Given the description of an element on the screen output the (x, y) to click on. 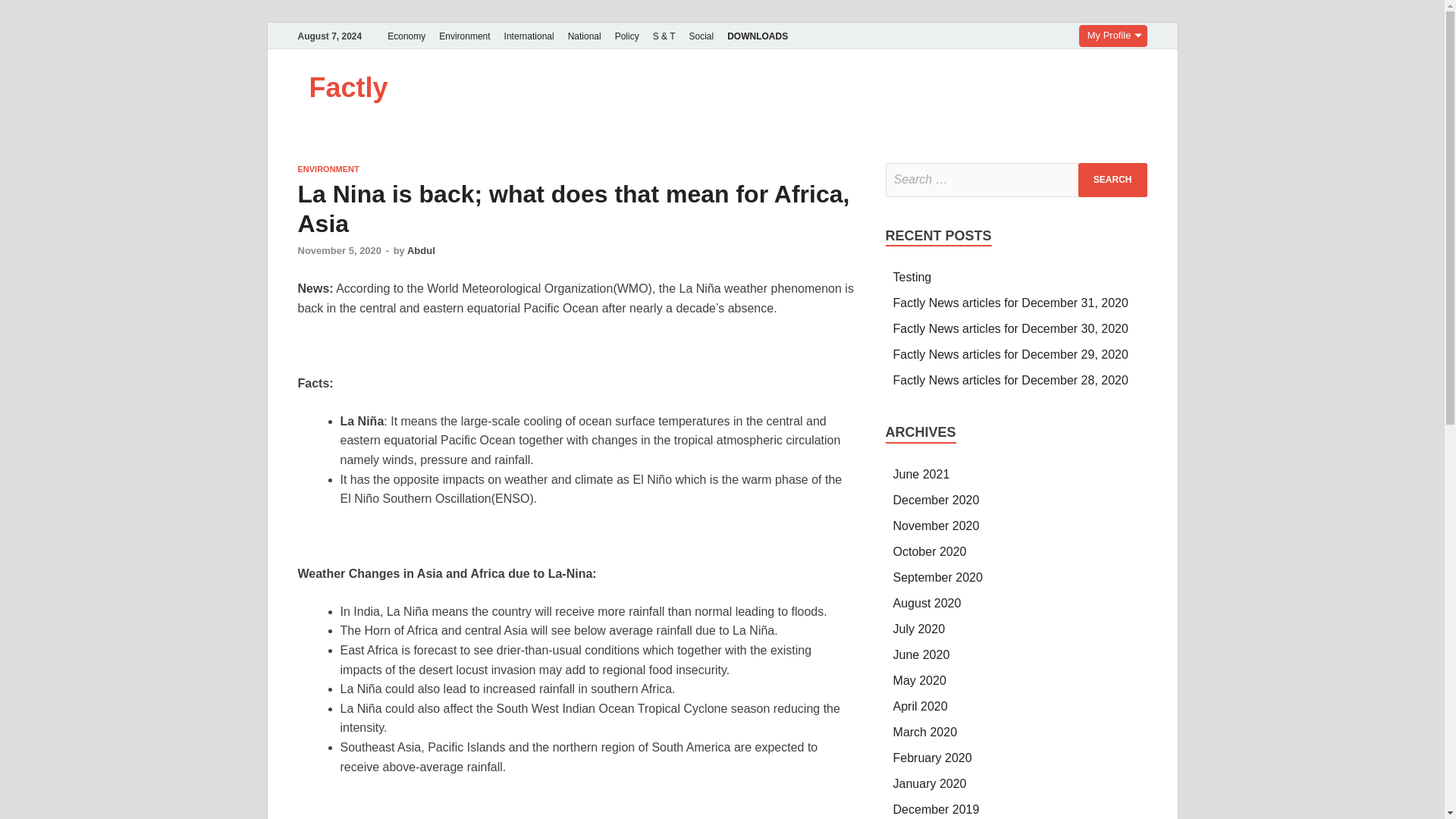
Social (701, 35)
Policy (627, 35)
Factly (348, 87)
November 5, 2020 (339, 250)
ENVIRONMENT (327, 168)
Economy (406, 35)
International (528, 35)
DOWNLOADS (757, 35)
Search (1112, 179)
Environment (464, 35)
Abdul (421, 250)
National (584, 35)
Search (1112, 179)
